Given the description of an element on the screen output the (x, y) to click on. 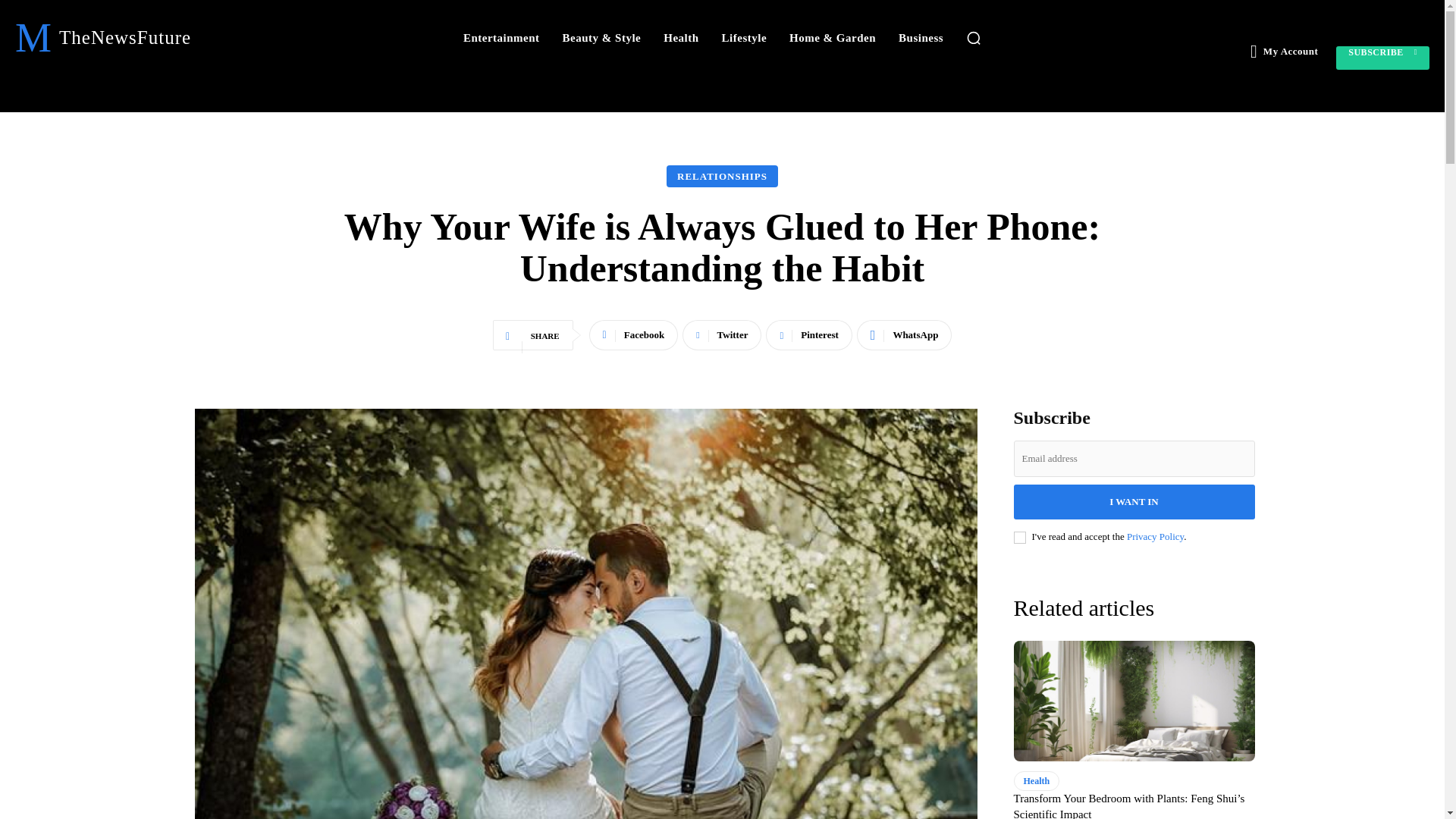
Twitter (721, 335)
Facebook (633, 335)
WhatsApp (904, 335)
Pinterest (808, 335)
